Given the description of an element on the screen output the (x, y) to click on. 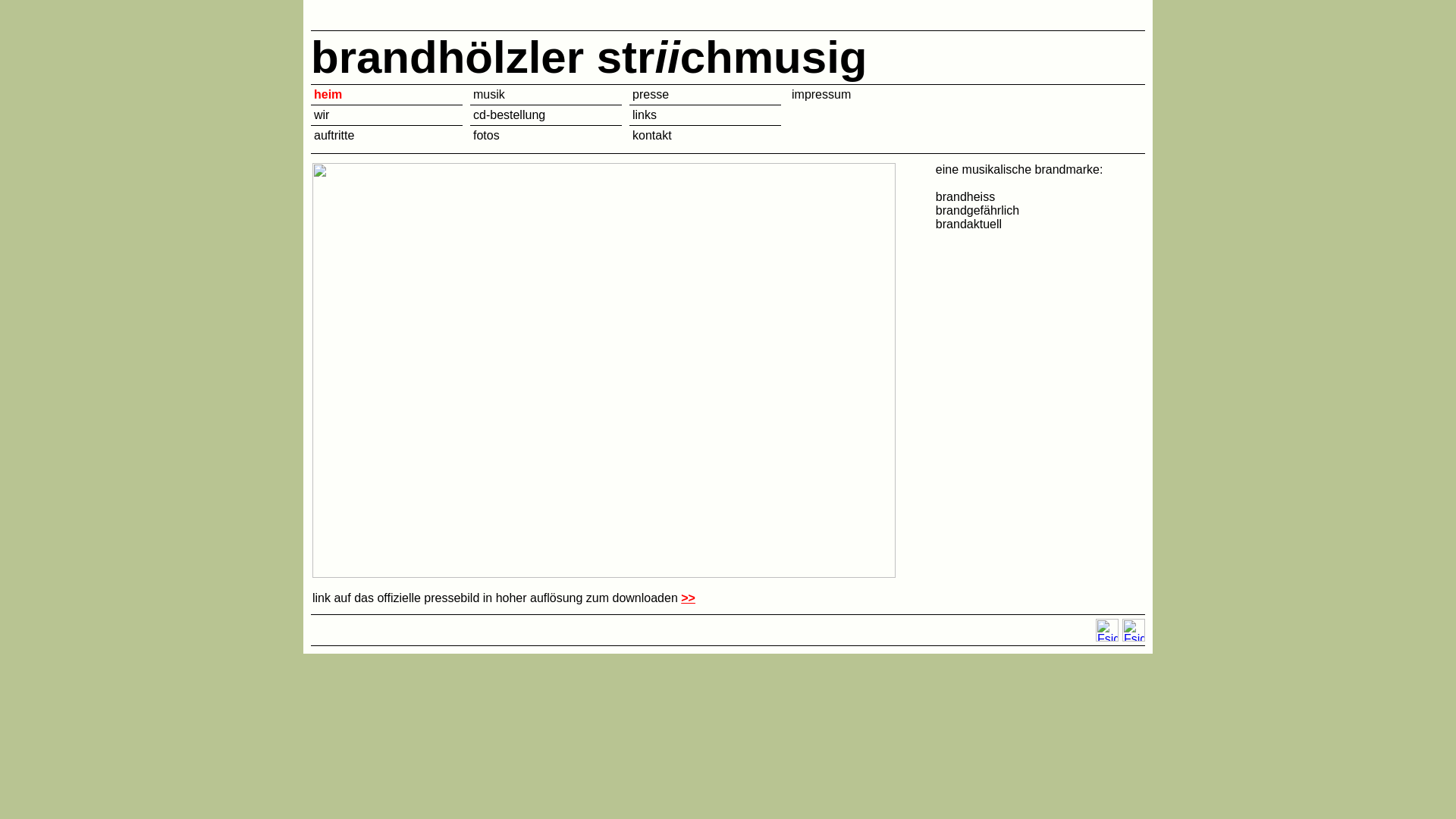
cd-bestellung Element type: text (509, 114)
auftritte Element type: text (333, 134)
>> Element type: text (687, 597)
musik Element type: text (489, 93)
links Element type: text (644, 114)
heim Element type: text (327, 93)
kontakt Element type: text (651, 134)
impressum Element type: text (820, 93)
presse Element type: text (650, 93)
wir Element type: text (321, 114)
fotos Element type: text (486, 134)
